Given the description of an element on the screen output the (x, y) to click on. 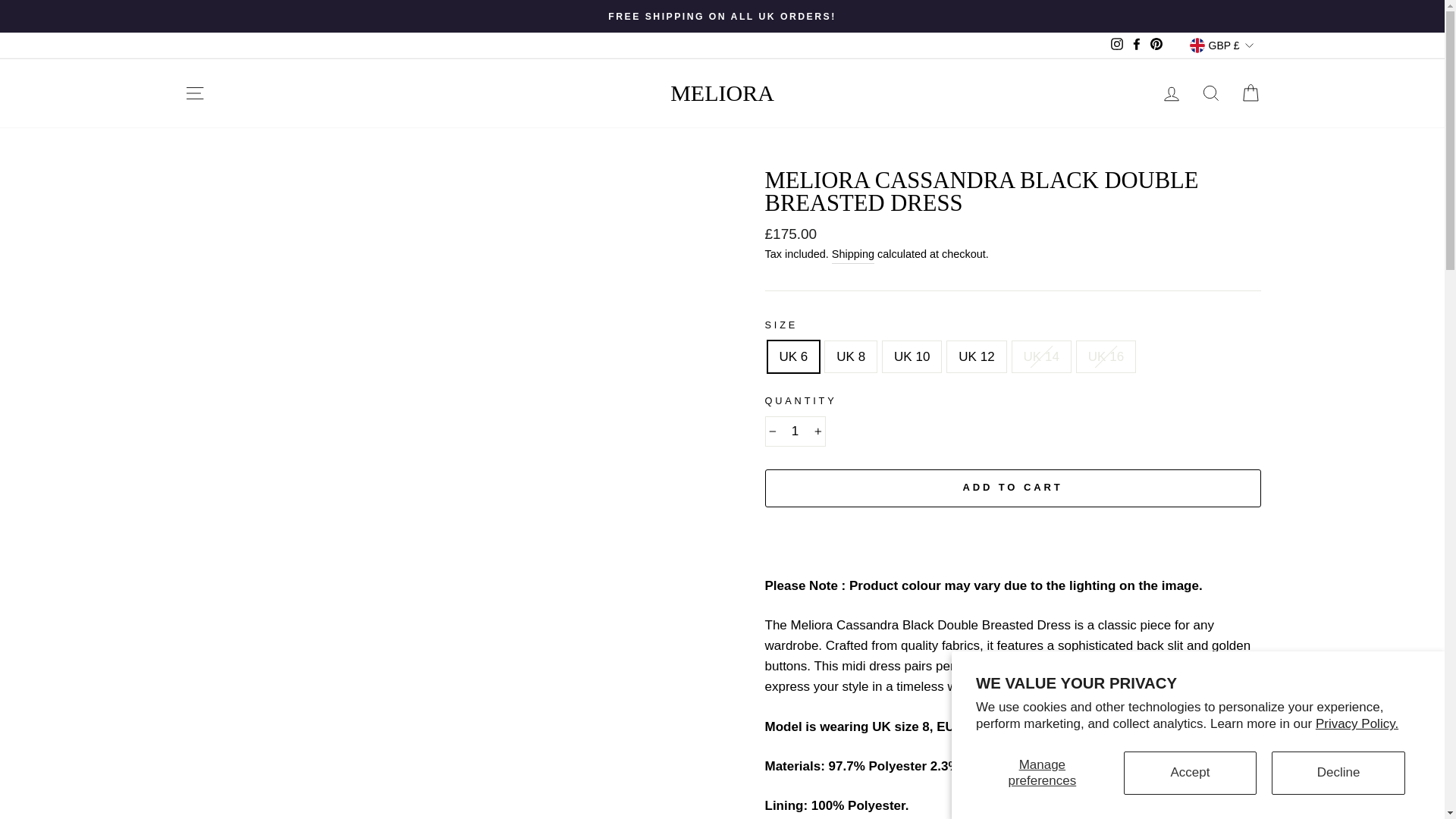
Manage preferences (1041, 772)
1 (794, 430)
Accept (1190, 772)
Privacy Policy. (1356, 723)
